Given the description of an element on the screen output the (x, y) to click on. 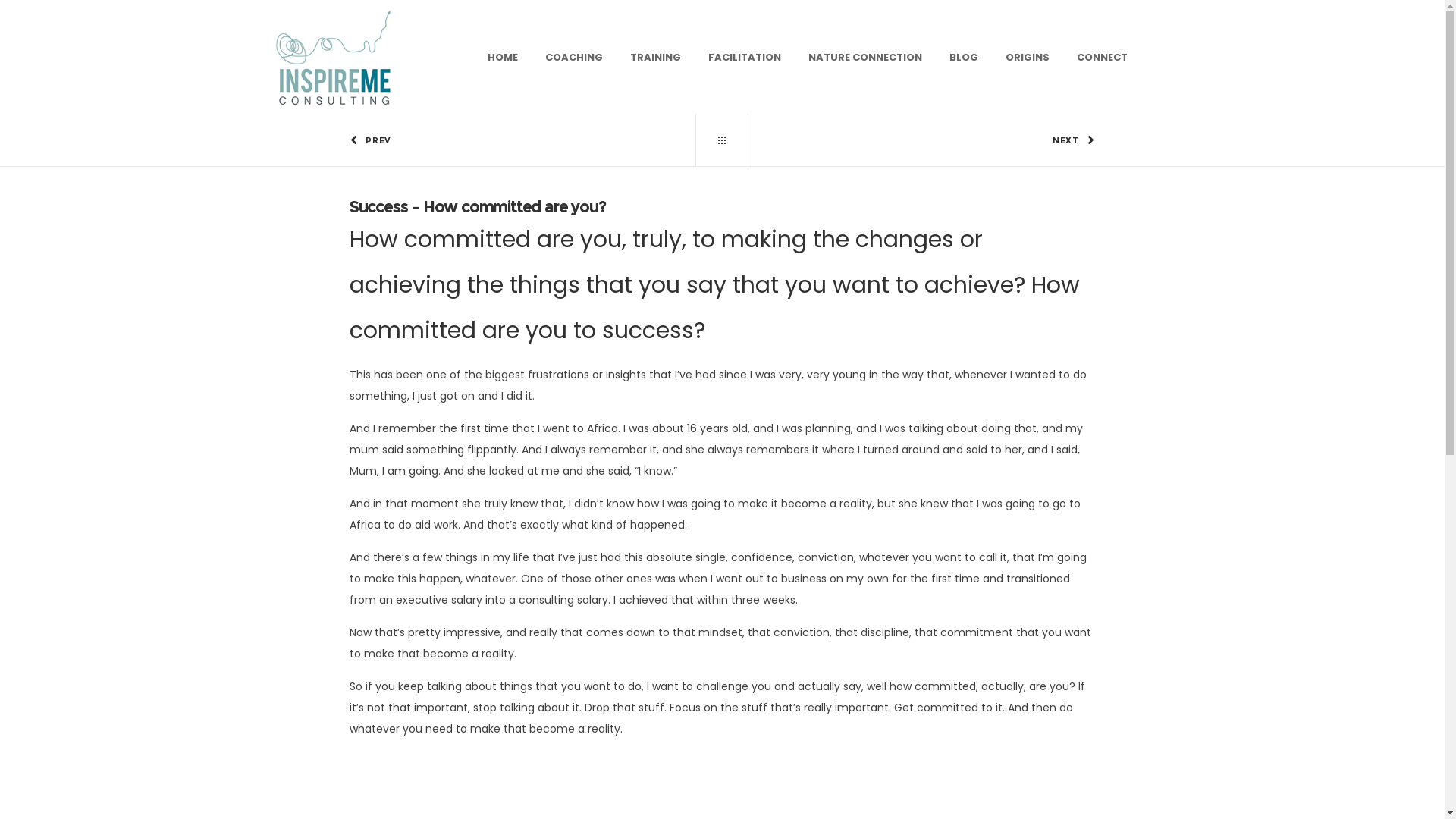
Site logo Element type: hover (332, 56)
FACILITATION Element type: text (744, 57)
Site logo Element type: hover (343, 56)
CONNECT Element type: text (1101, 57)
ORIGINS Element type: text (1027, 57)
NATURE CONNECTION Element type: text (865, 57)
NEXT Element type: text (908, 139)
HOME Element type: text (502, 57)
PREV Element type: text (535, 139)
BLOG Element type: text (963, 57)
TRAINING Element type: text (655, 57)
COACHING Element type: text (573, 57)
Blog Element type: hover (721, 139)
